Given the description of an element on the screen output the (x, y) to click on. 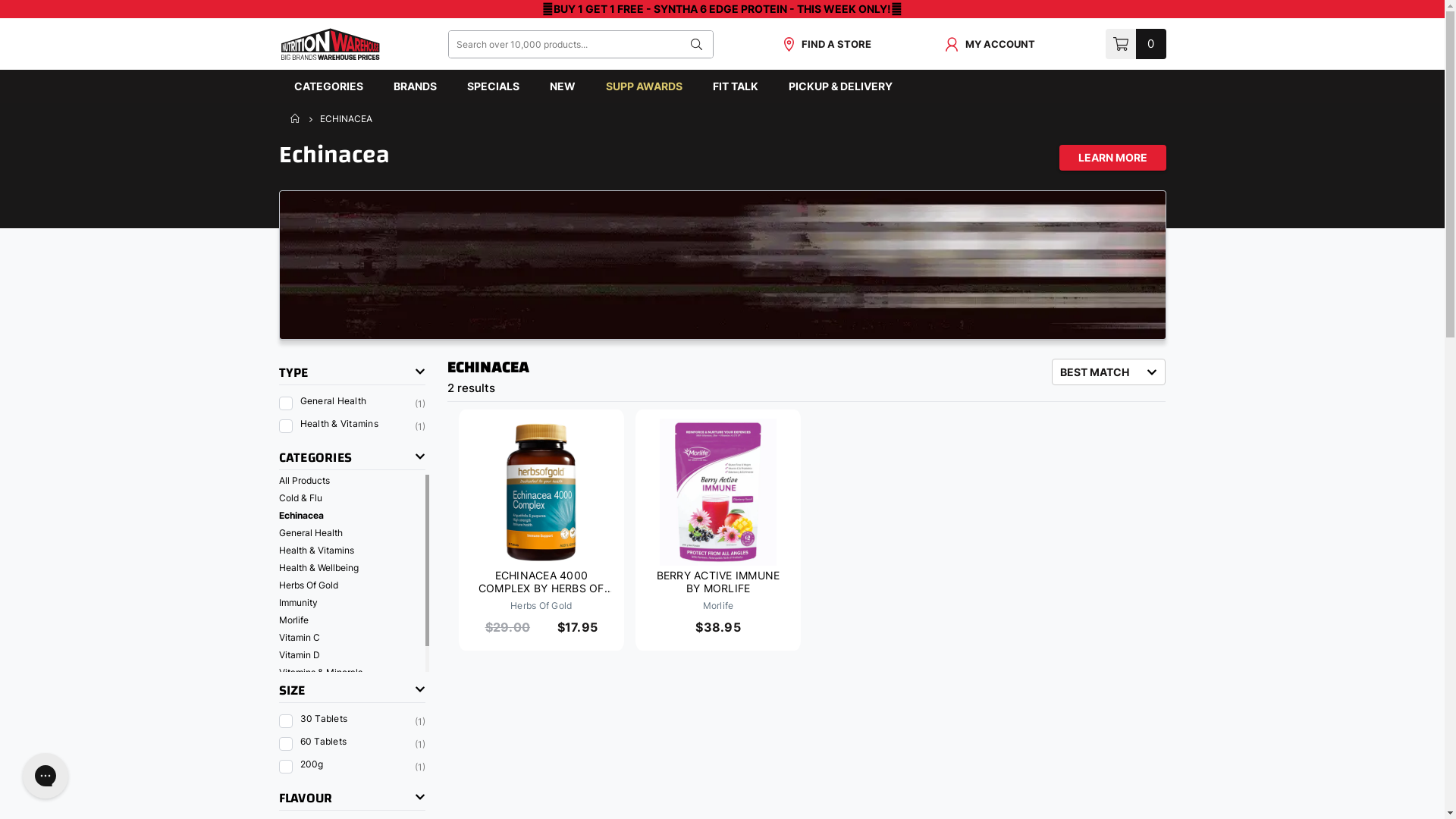
FIND A STORE Element type: text (826, 43)
Gorgias live chat messenger Element type: hover (45, 775)
LEARN MORE Element type: text (1111, 156)
CATEGORIES Element type: text (328, 86)
HOME Element type: text (295, 118)
FIT TALK Element type: text (735, 86)
BRANDS Element type: text (414, 86)
SUPP AWARDS Element type: text (642, 86)
MY ACCOUNT Element type: text (989, 43)
NEW Element type: text (561, 86)
SPECIALS Element type: text (492, 86)
